Given the description of an element on the screen output the (x, y) to click on. 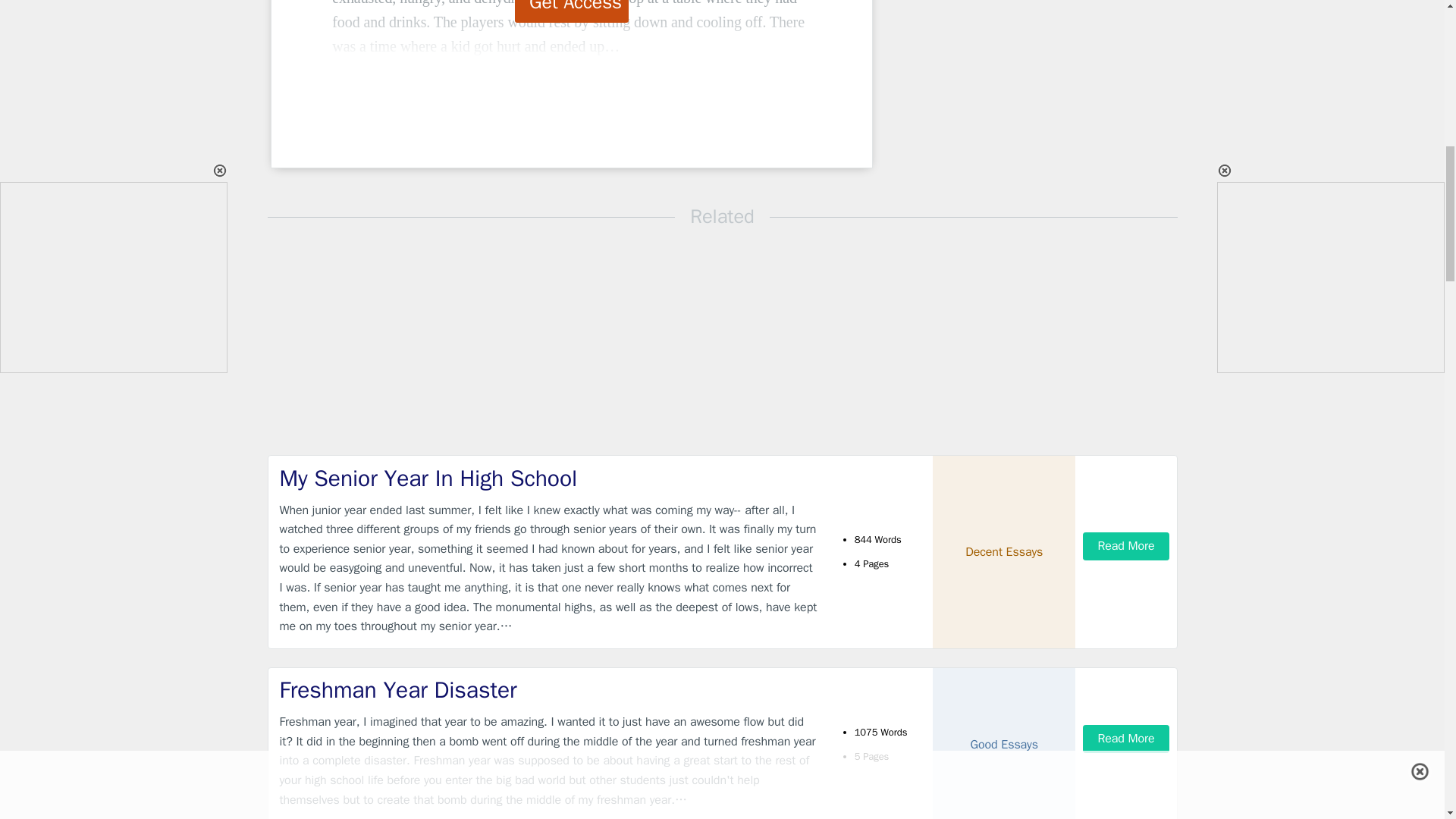
My Senior Year In High School (548, 478)
3rd party ad content (997, 90)
Read More (1126, 546)
Read More (1126, 738)
Freshman Year Disaster (548, 689)
Get Access (571, 11)
